Given the description of an element on the screen output the (x, y) to click on. 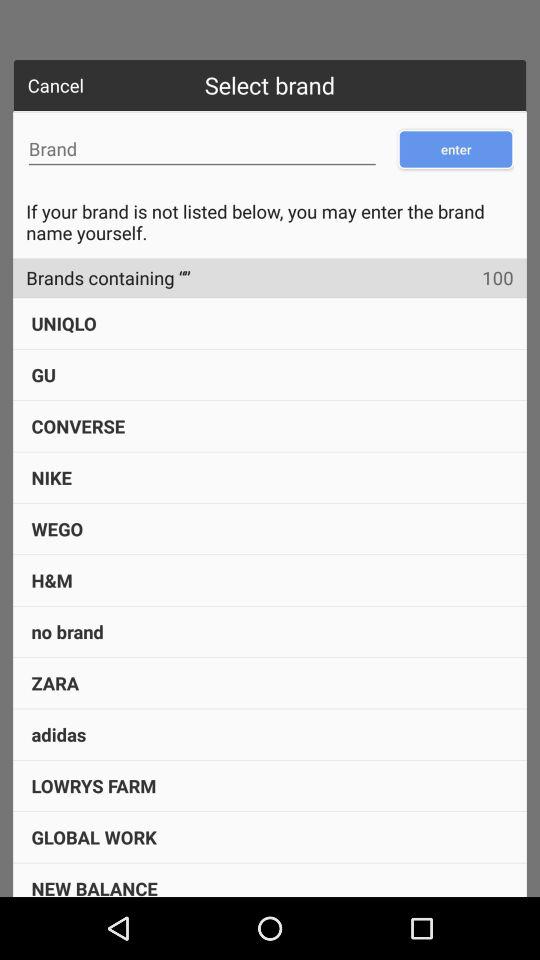
enter brand name (202, 149)
